Given the description of an element on the screen output the (x, y) to click on. 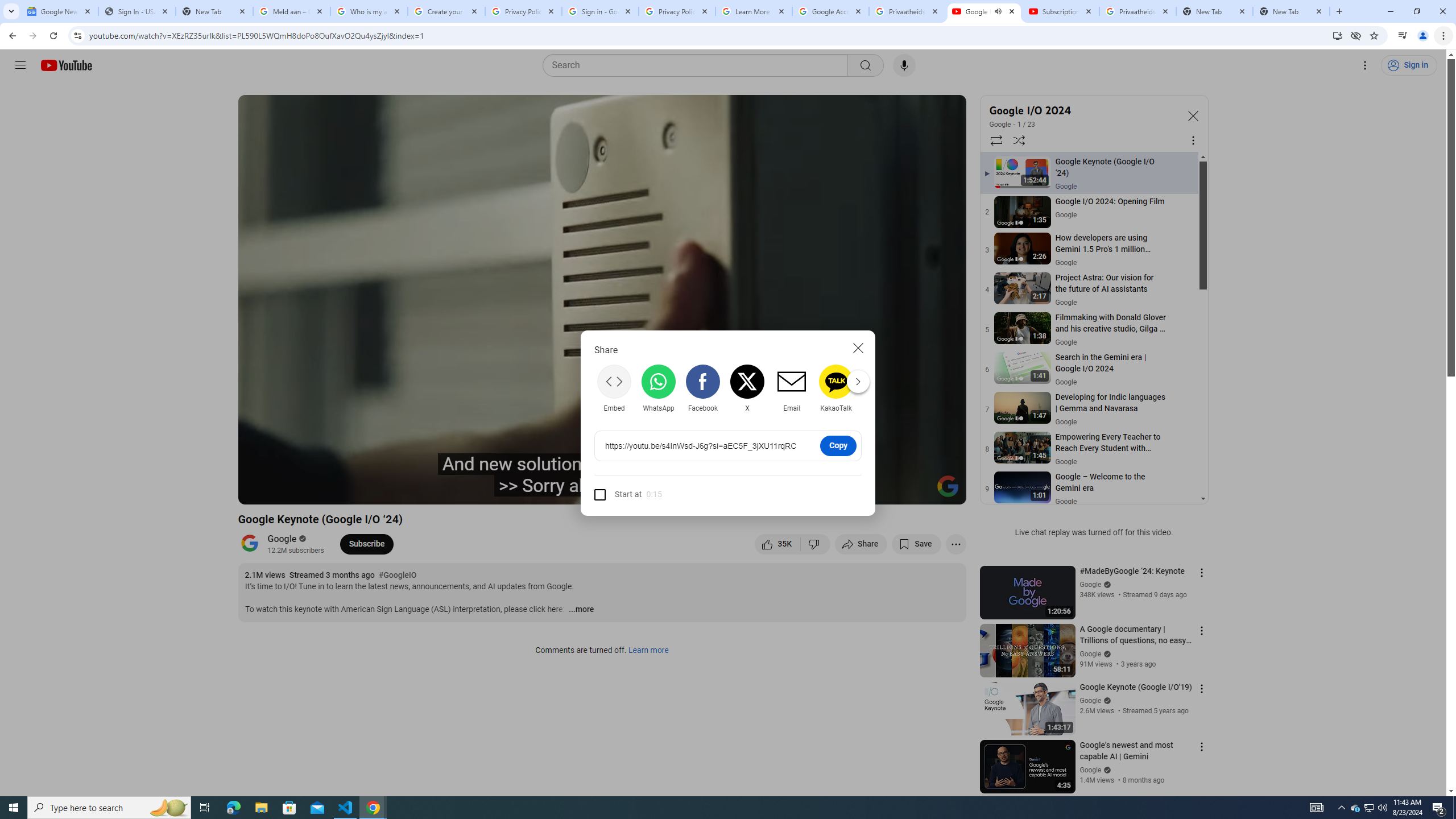
Email (790, 388)
Embed (614, 387)
Guide (20, 65)
Sign In - USA TODAY (136, 11)
Reddit (879, 388)
Subscribe to Google. (366, 543)
Reddit (879, 387)
Dislike this video (815, 543)
